Given the description of an element on the screen output the (x, y) to click on. 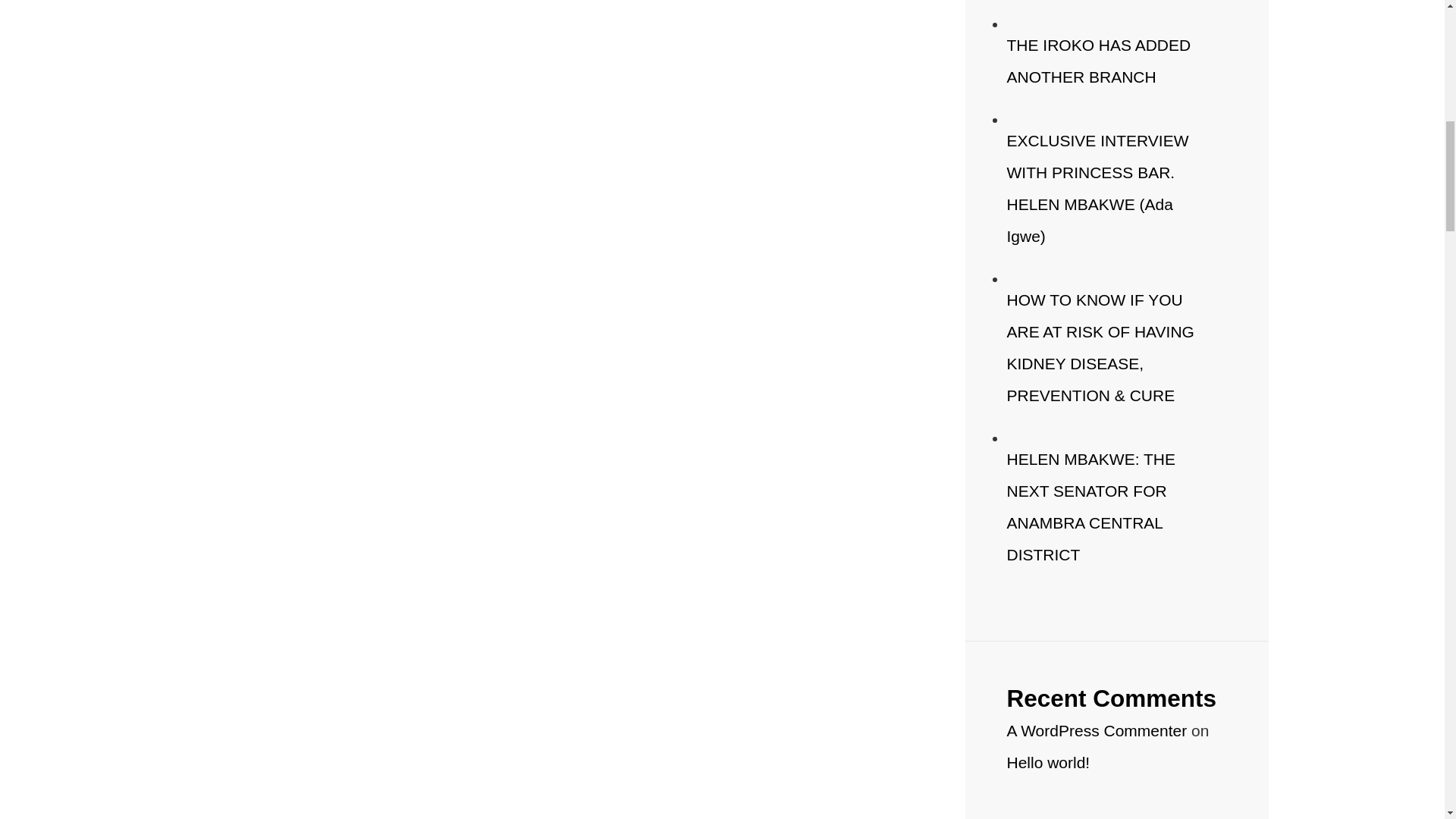
Hello world! (1048, 762)
THE IROKO HAS ADDED ANOTHER BRANCH  (1099, 60)
A WordPress Commenter (1097, 730)
HELEN MBAKWE: THE NEXT SENATOR FOR ANAMBRA CENTRAL DISTRICT (1091, 506)
